Given the description of an element on the screen output the (x, y) to click on. 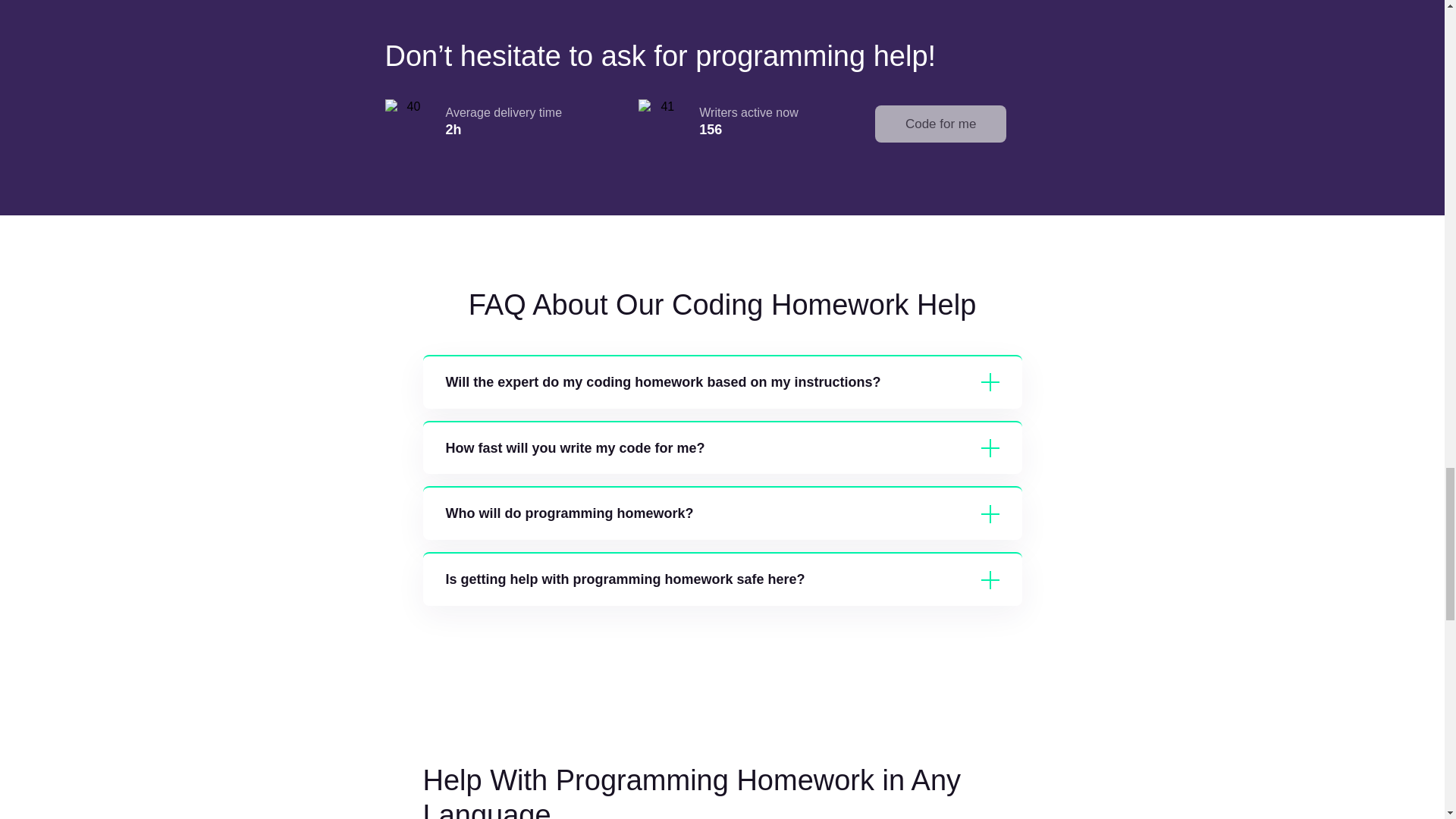
Code for me (941, 123)
